Given the description of an element on the screen output the (x, y) to click on. 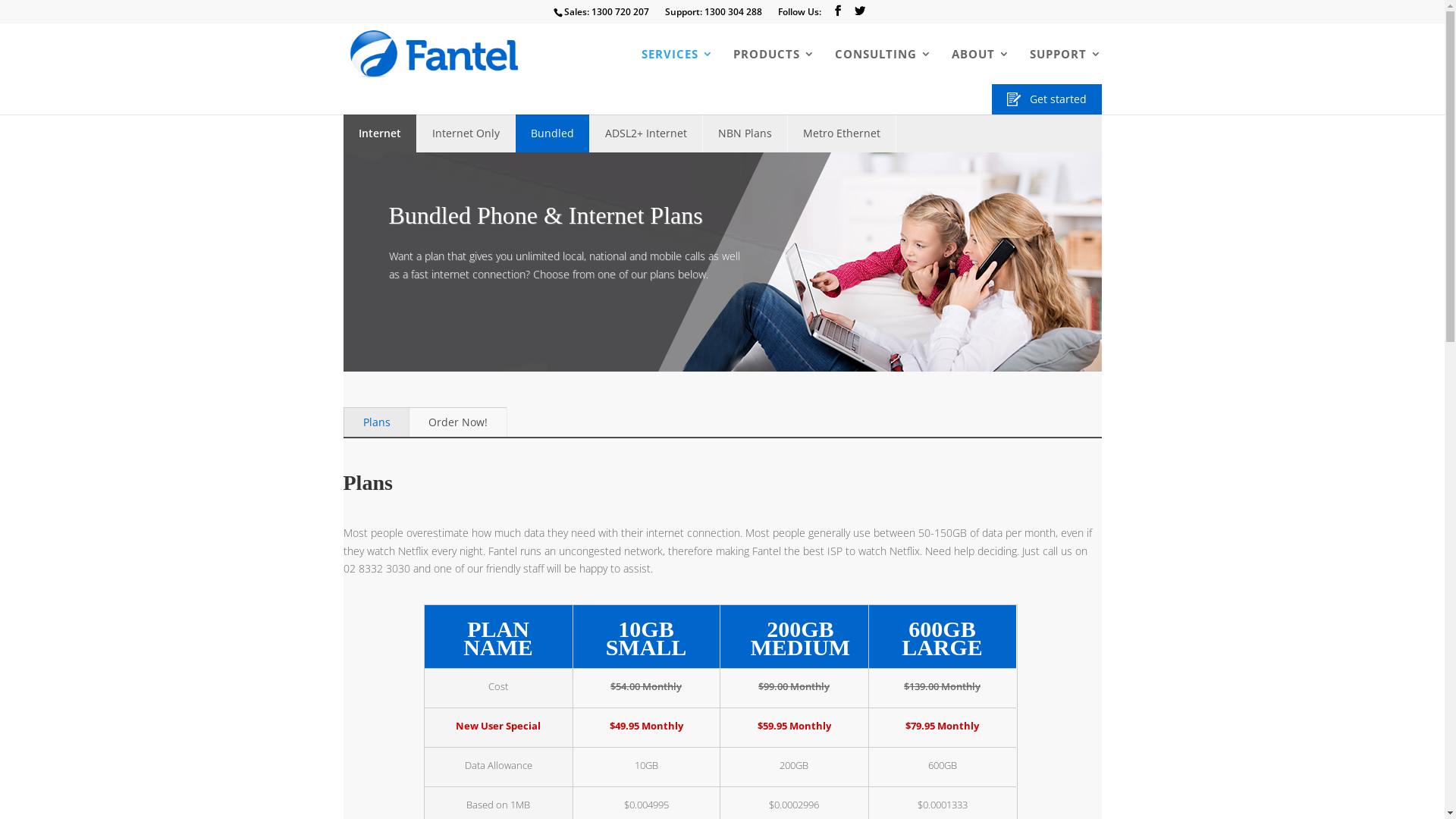
SERVICES Element type: text (677, 66)
Get started Element type: text (1046, 99)
NBN Plans Element type: text (744, 133)
ABOUT Element type: text (979, 66)
ADSL2+ Internet Element type: text (645, 133)
Internet Only Element type: text (466, 133)
SUPPORT Element type: text (1065, 66)
Bundled Element type: text (552, 133)
CONSULTING Element type: text (882, 66)
Internet Element type: text (379, 133)
Metro Ethernet Element type: text (841, 133)
PRODUCTS Element type: text (773, 66)
Order Now! Element type: text (457, 421)
